Given the description of an element on the screen output the (x, y) to click on. 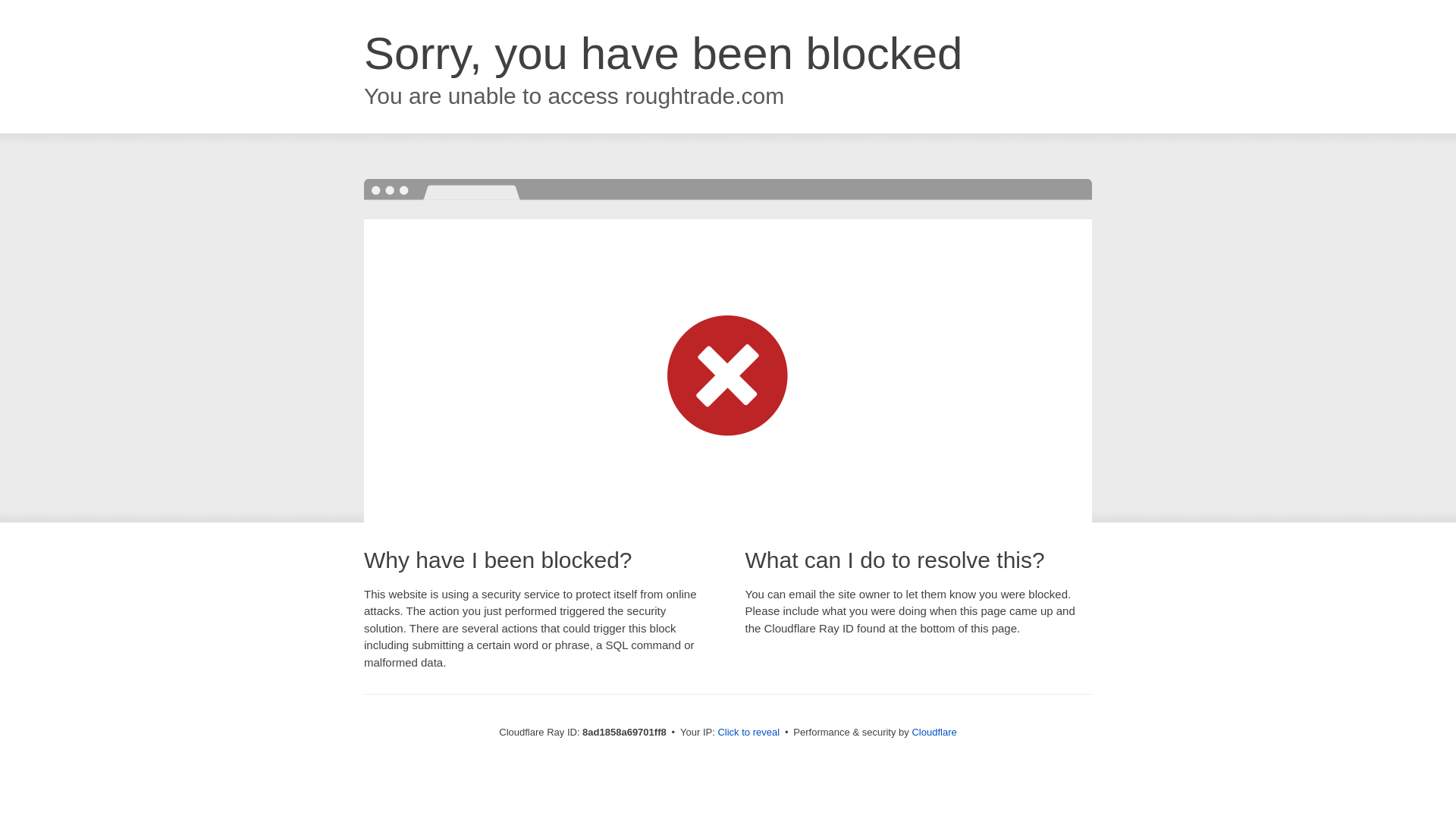
Click to reveal (747, 732)
Cloudflare (933, 731)
